Given the description of an element on the screen output the (x, y) to click on. 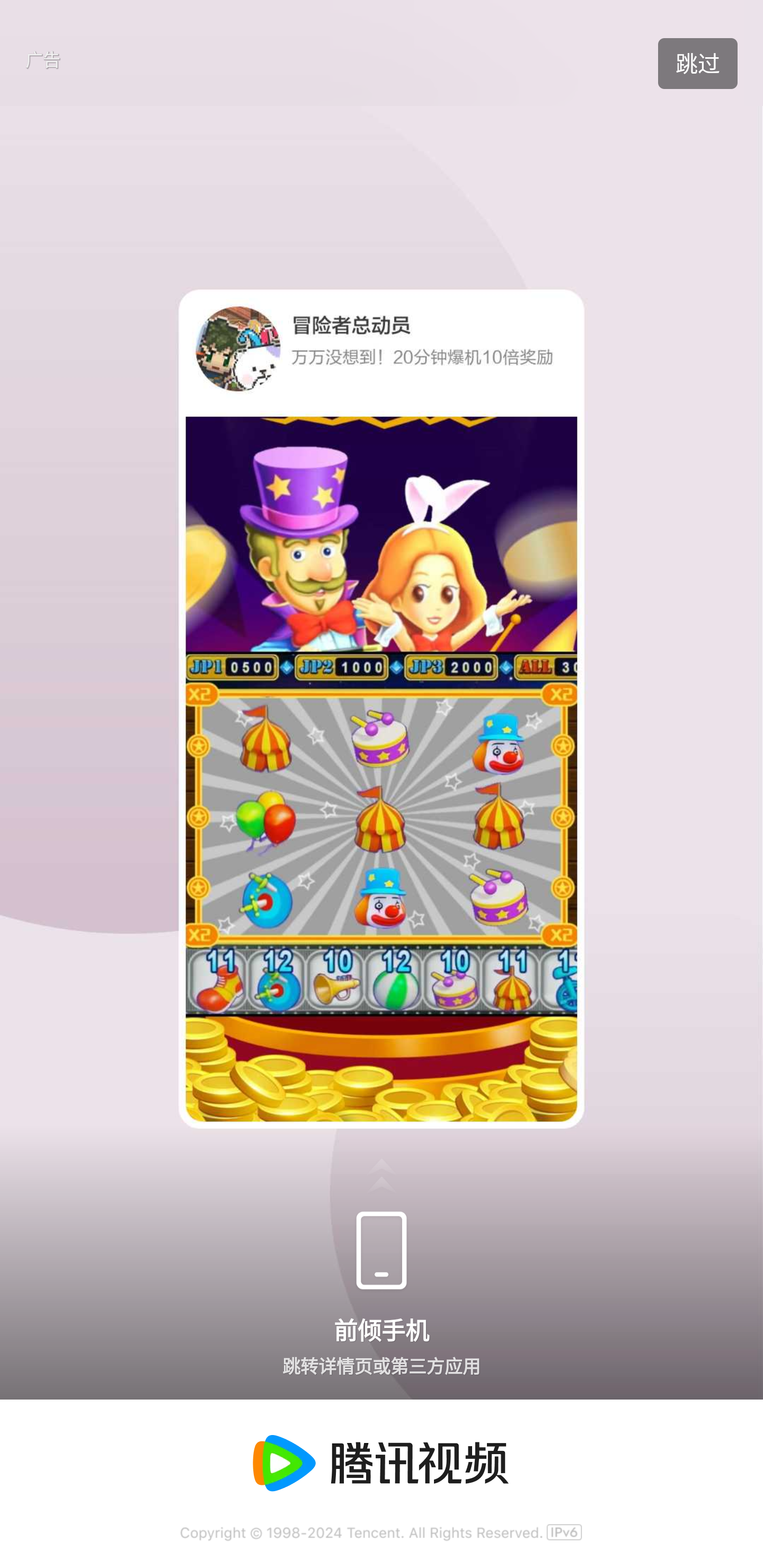
首页 (47, 77)
跳过 (697, 63)
